Given the description of an element on the screen output the (x, y) to click on. 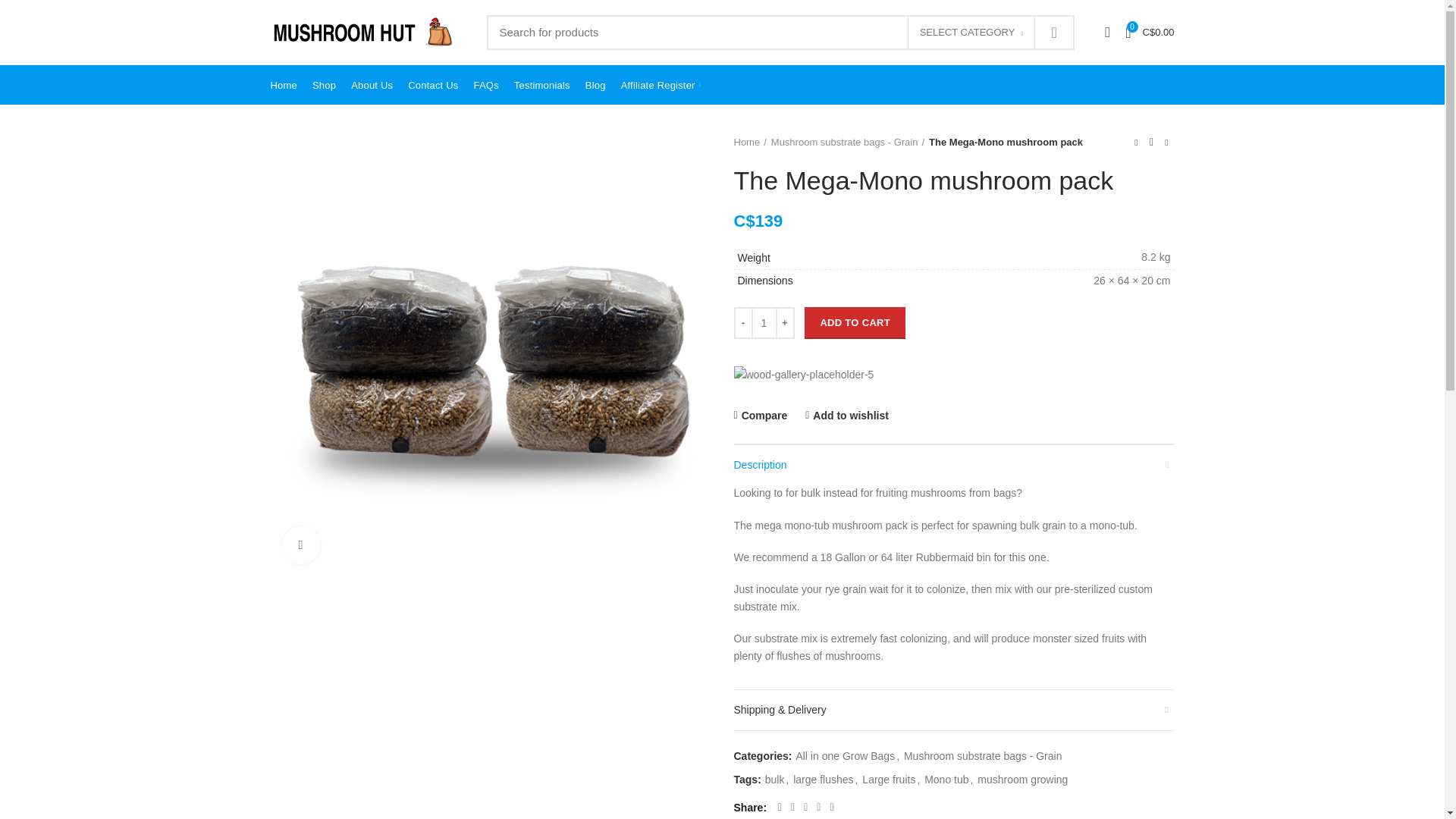
SELECT CATEGORY (971, 32)
Home (750, 142)
Add to wishlist (846, 415)
Blog (595, 84)
Previous product (1135, 142)
Testimonials (542, 84)
wood-gallery-placeholder-5 (804, 374)
Next product (1165, 142)
About Us (371, 84)
ADD TO CART (855, 323)
Home (283, 84)
Contact Us (432, 84)
SELECT CATEGORY (971, 32)
